Given the description of an element on the screen output the (x, y) to click on. 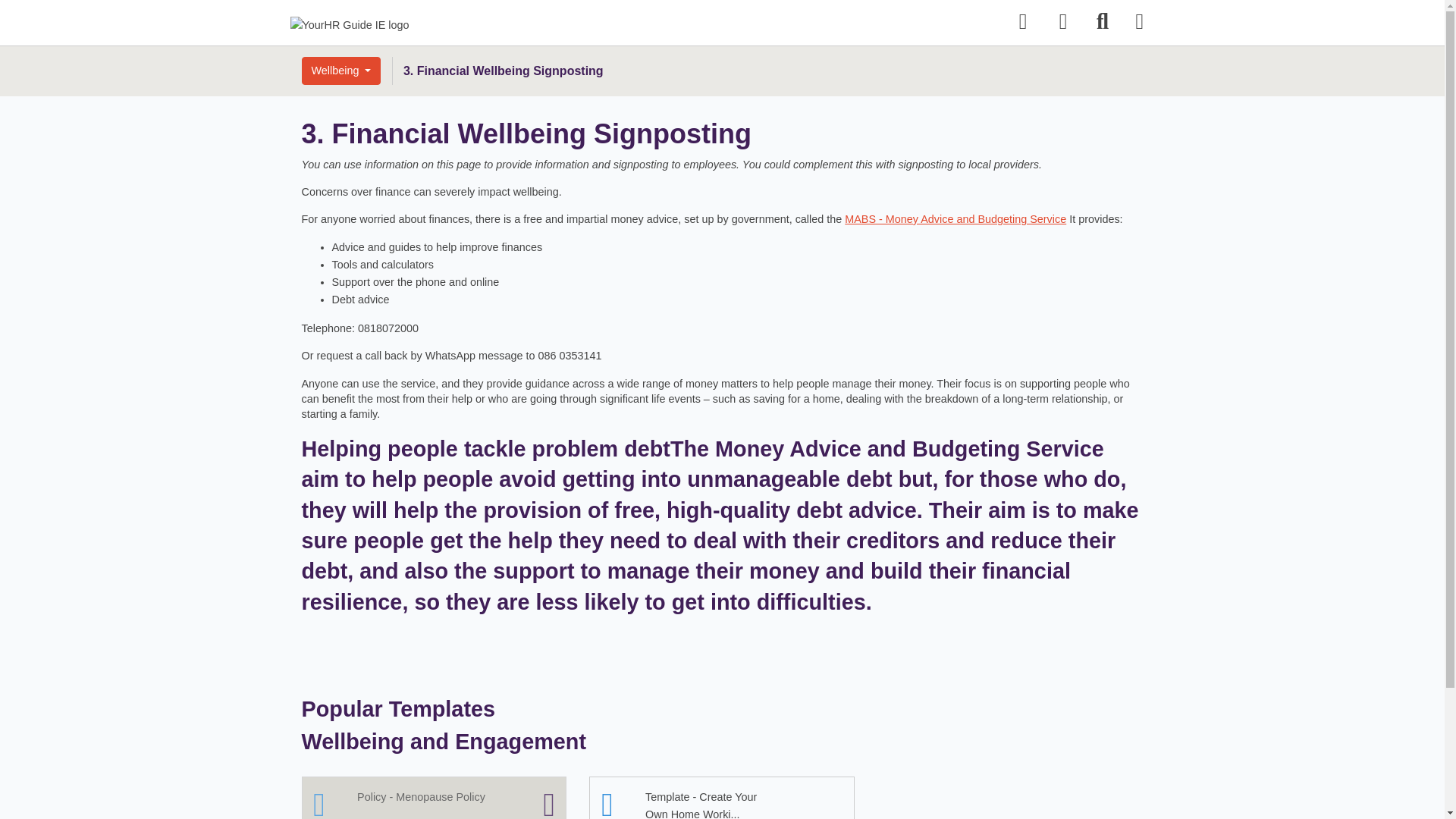
MABS - Money Advice and Budgeting Service (954, 218)
Premium Membership (434, 797)
Template - Create Your Own Home Working Schedule (721, 797)
Policy - Menopause Policy (434, 797)
Wellbeing (341, 70)
Template - Create Your Own Home Worki... (721, 797)
